Given the description of an element on the screen output the (x, y) to click on. 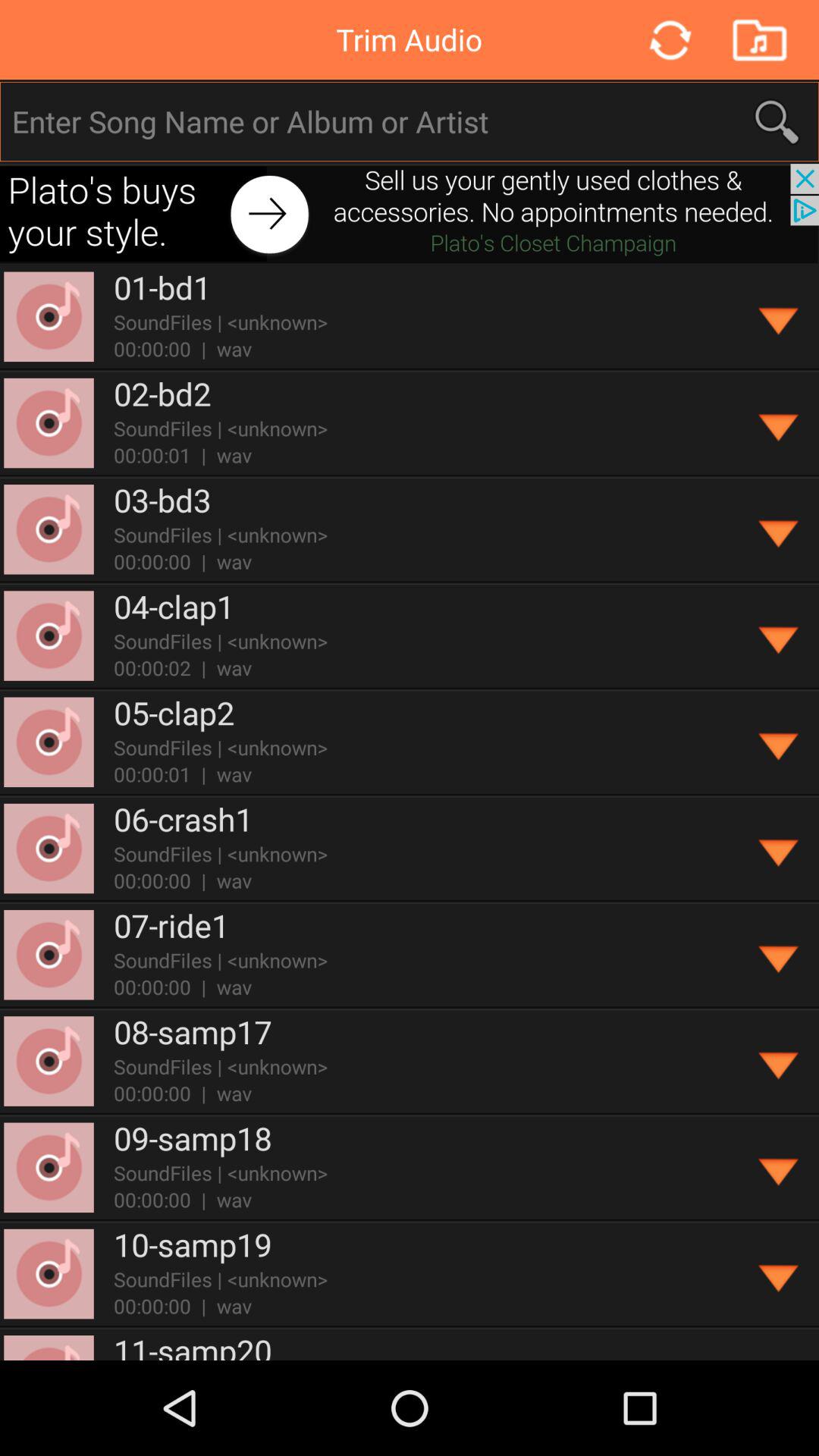
toggle autoplay option (779, 422)
